Given the description of an element on the screen output the (x, y) to click on. 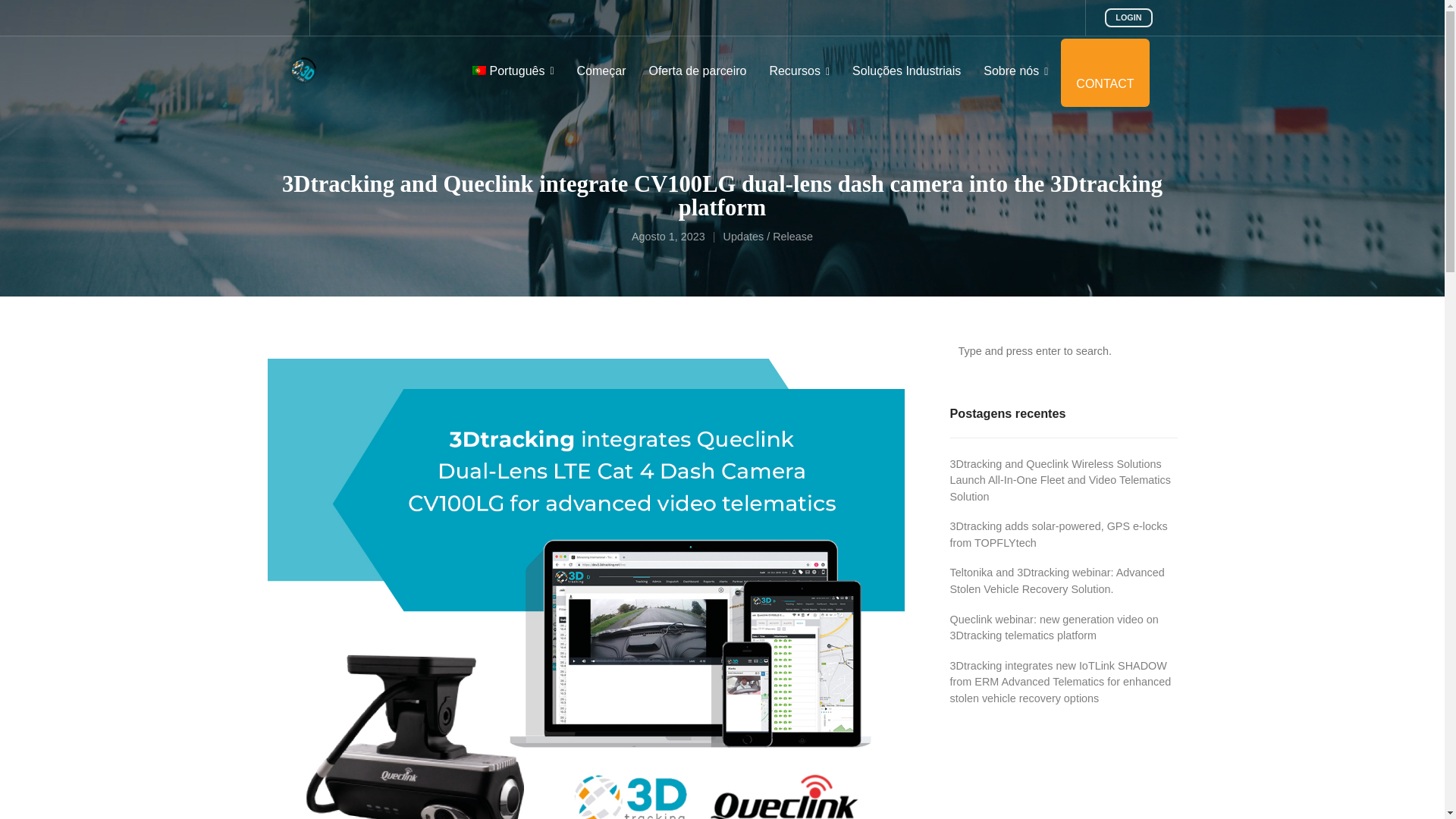
Recursos (799, 70)
LOGIN (1128, 17)
Oferta de parceiro (697, 70)
